Given the description of an element on the screen output the (x, y) to click on. 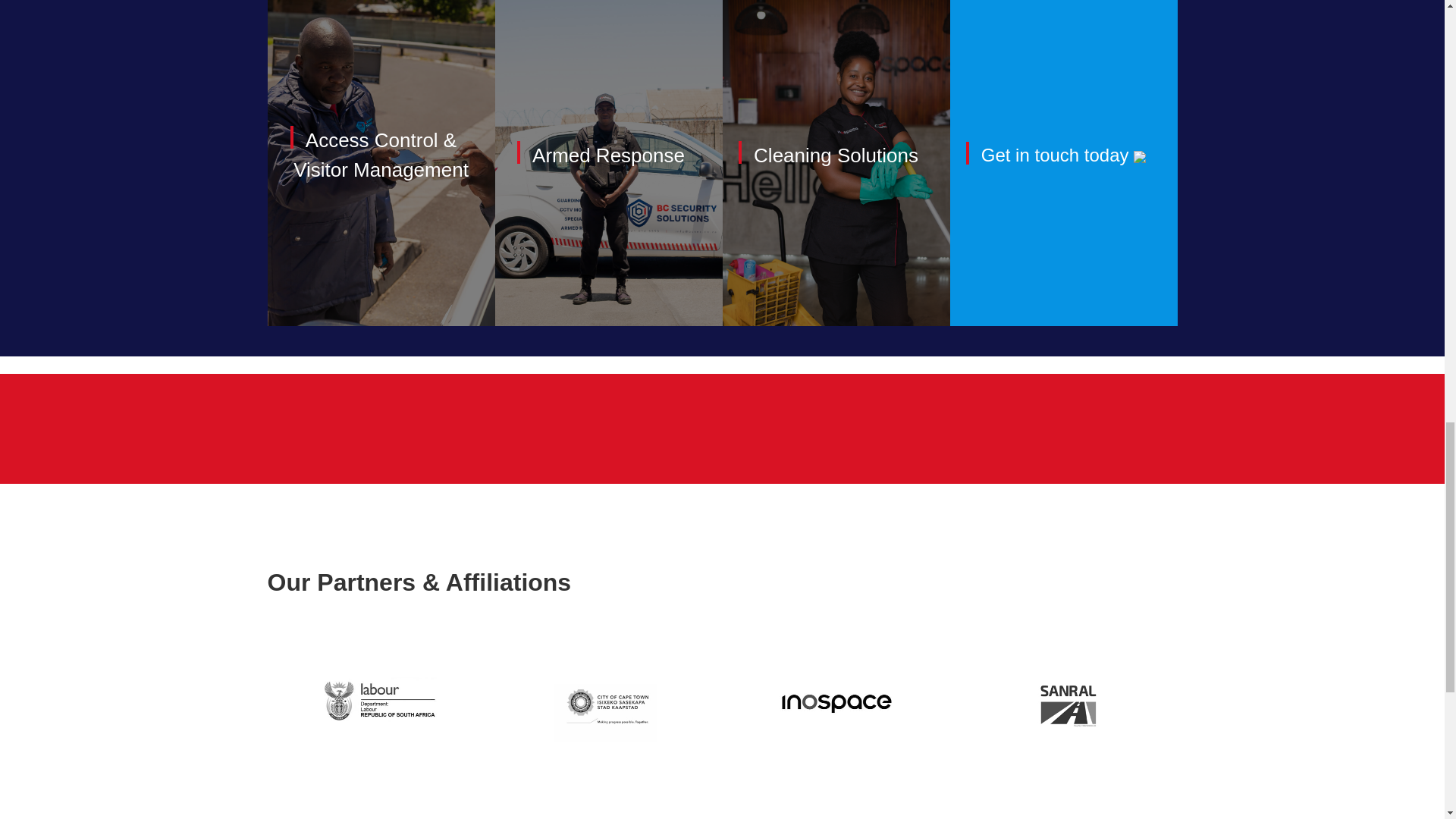
Get in touch today (1063, 154)
Armed Response (608, 154)
Cleaning Solutions (836, 154)
